Given the description of an element on the screen output the (x, y) to click on. 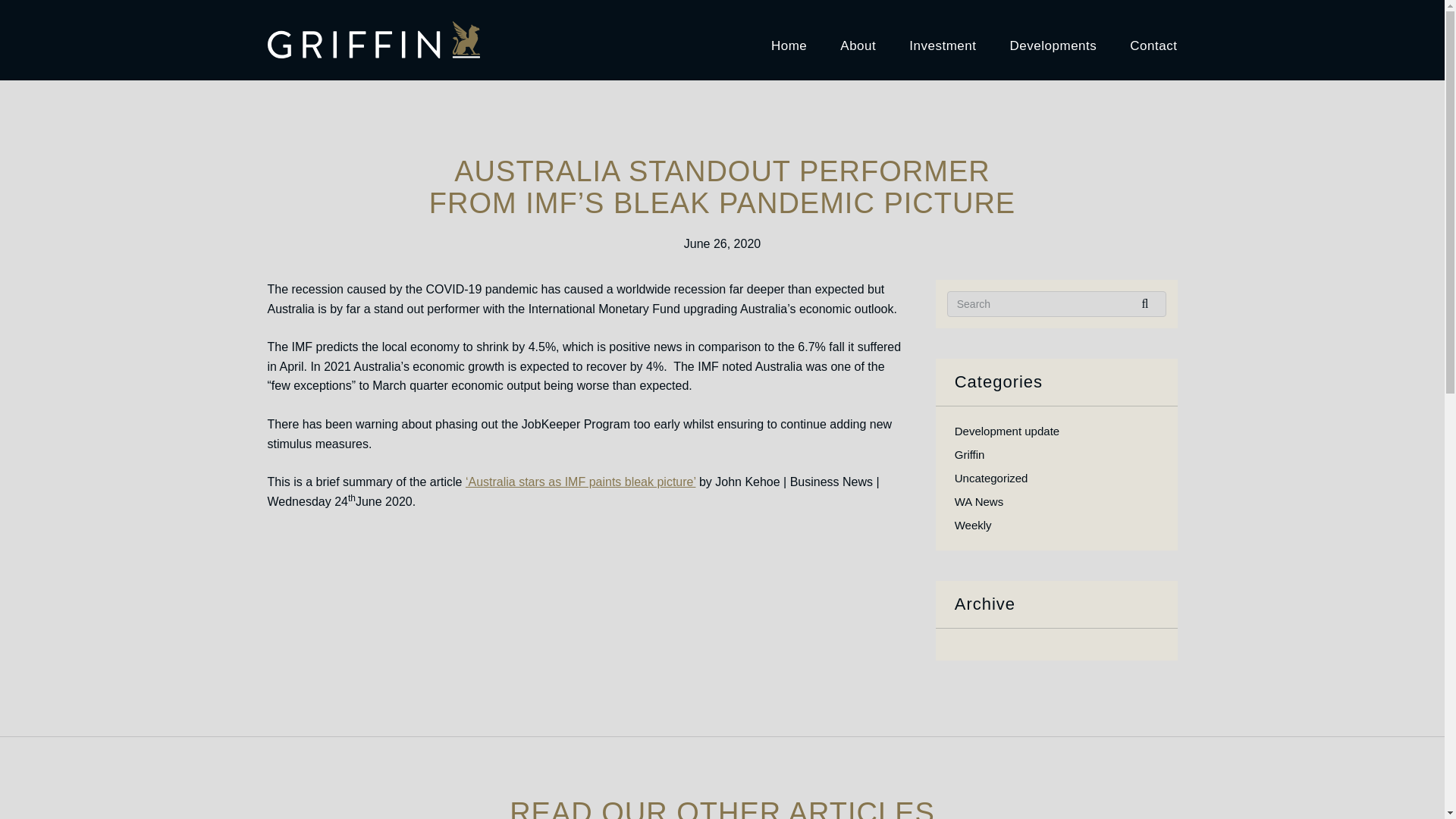
Home (788, 39)
WA News (979, 501)
Griffin (970, 454)
Search (1150, 303)
Development update (1007, 431)
Uncategorized (991, 477)
Contact (1152, 39)
Developments (1053, 39)
Weekly (973, 524)
Investment (941, 39)
About (858, 39)
Type and press Enter to search. (1056, 304)
